Given the description of an element on the screen output the (x, y) to click on. 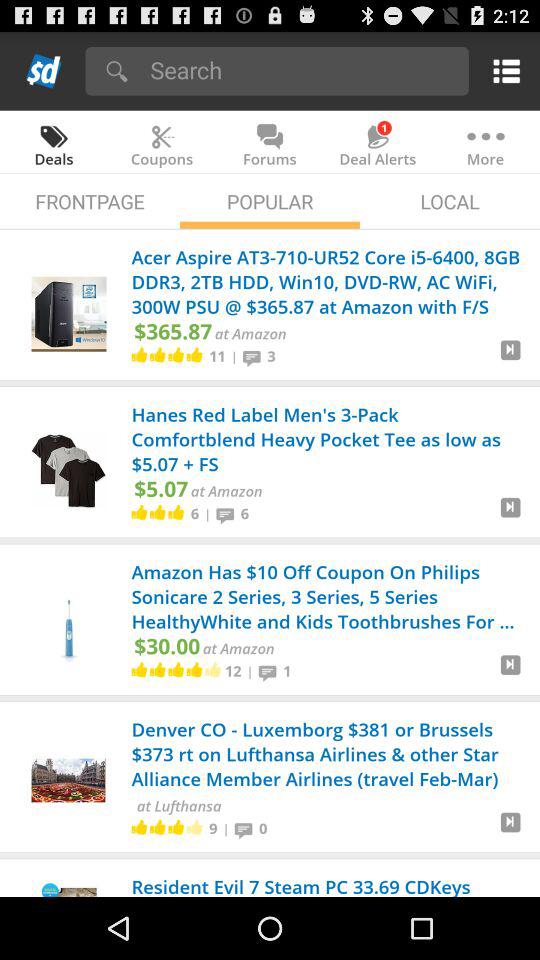
search bar (302, 69)
